Given the description of an element on the screen output the (x, y) to click on. 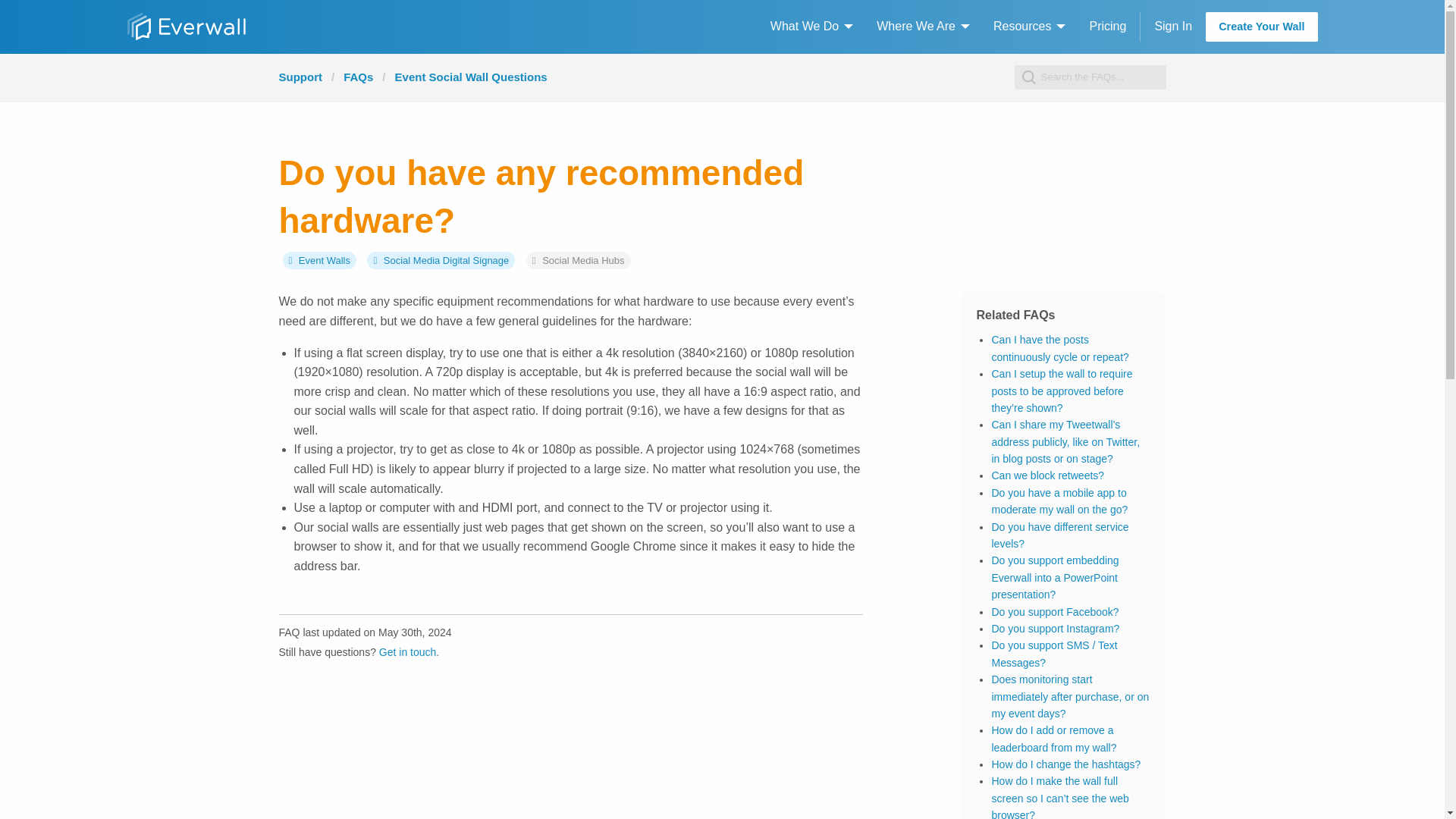
Create Your Wall (1261, 26)
Support (301, 76)
Can I have the posts continuously cycle or repeat? (1059, 347)
Sign In (1172, 26)
Search (27, 11)
Do you have a mobile app to moderate my wall on the go? (1058, 500)
Can we block retweets? (1047, 475)
Where We Are (919, 26)
Event Social Wall Questions (470, 76)
Get in touch (407, 652)
